Given the description of an element on the screen output the (x, y) to click on. 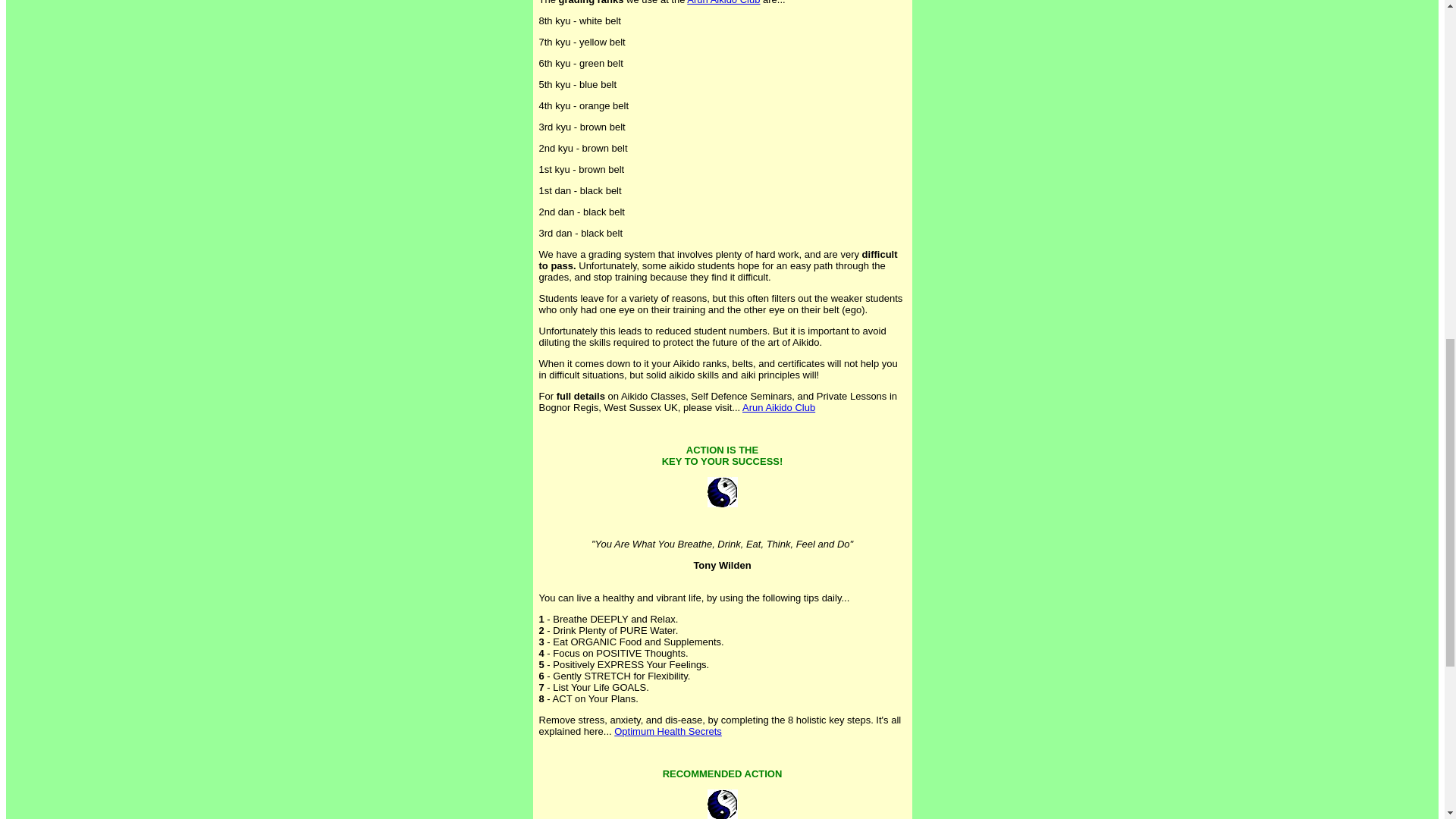
Optimum Health Secrets (668, 731)
Arun Aikido Club (778, 407)
Arun Aikido Club (723, 2)
